Given the description of an element on the screen output the (x, y) to click on. 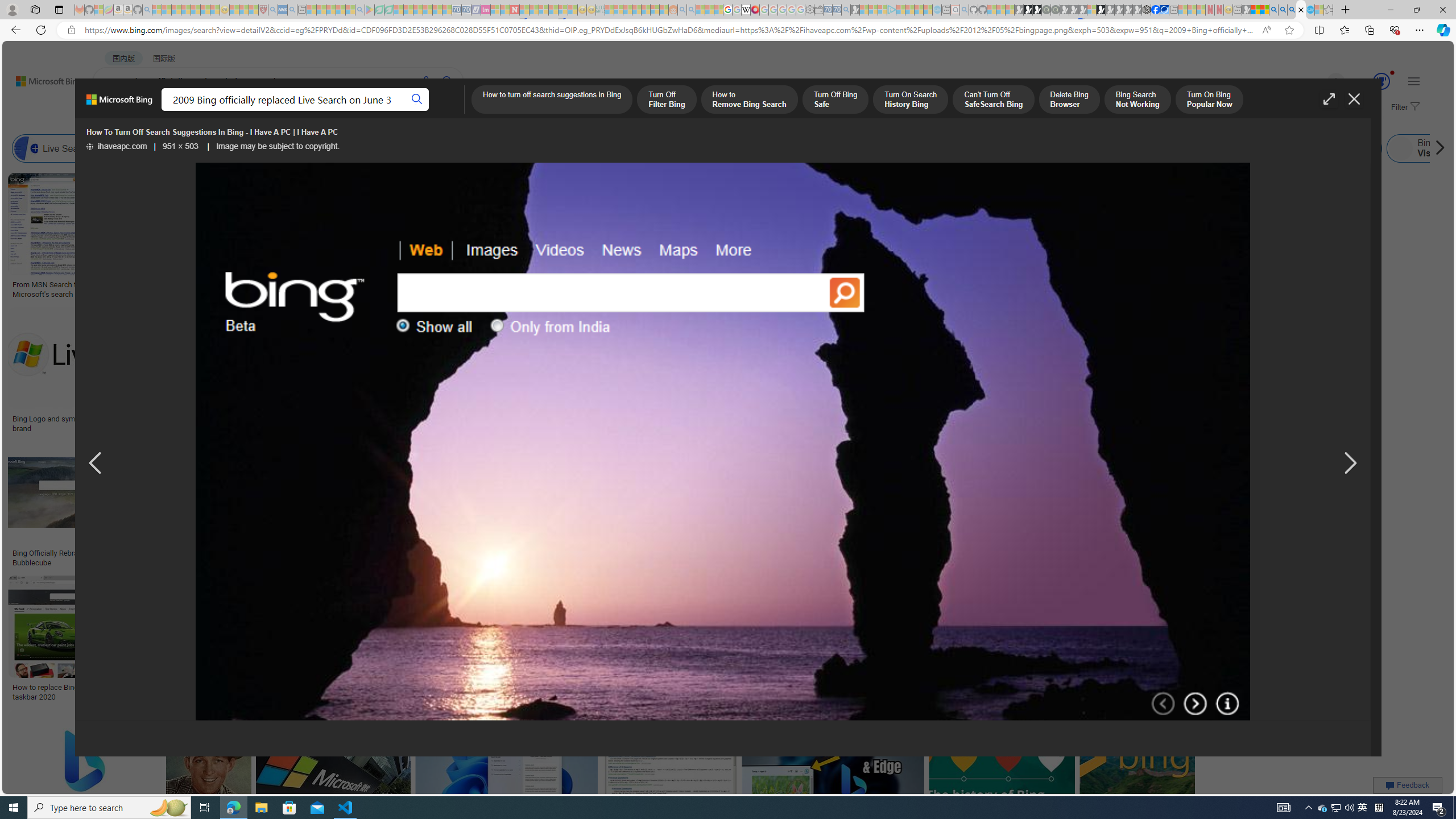
Previous image result (95, 463)
Filter (1403, 107)
Bing Ai Search Engine Powered (536, 148)
Dropdown Menu (451, 111)
Remove the 'News & Interests' bar from Bing | TechLife (857, 419)
Owner of Bing Search Engine (1115, 148)
Remove the 'News & Interests' bar from Bing | TechLifeSave (863, 371)
